Given the description of an element on the screen output the (x, y) to click on. 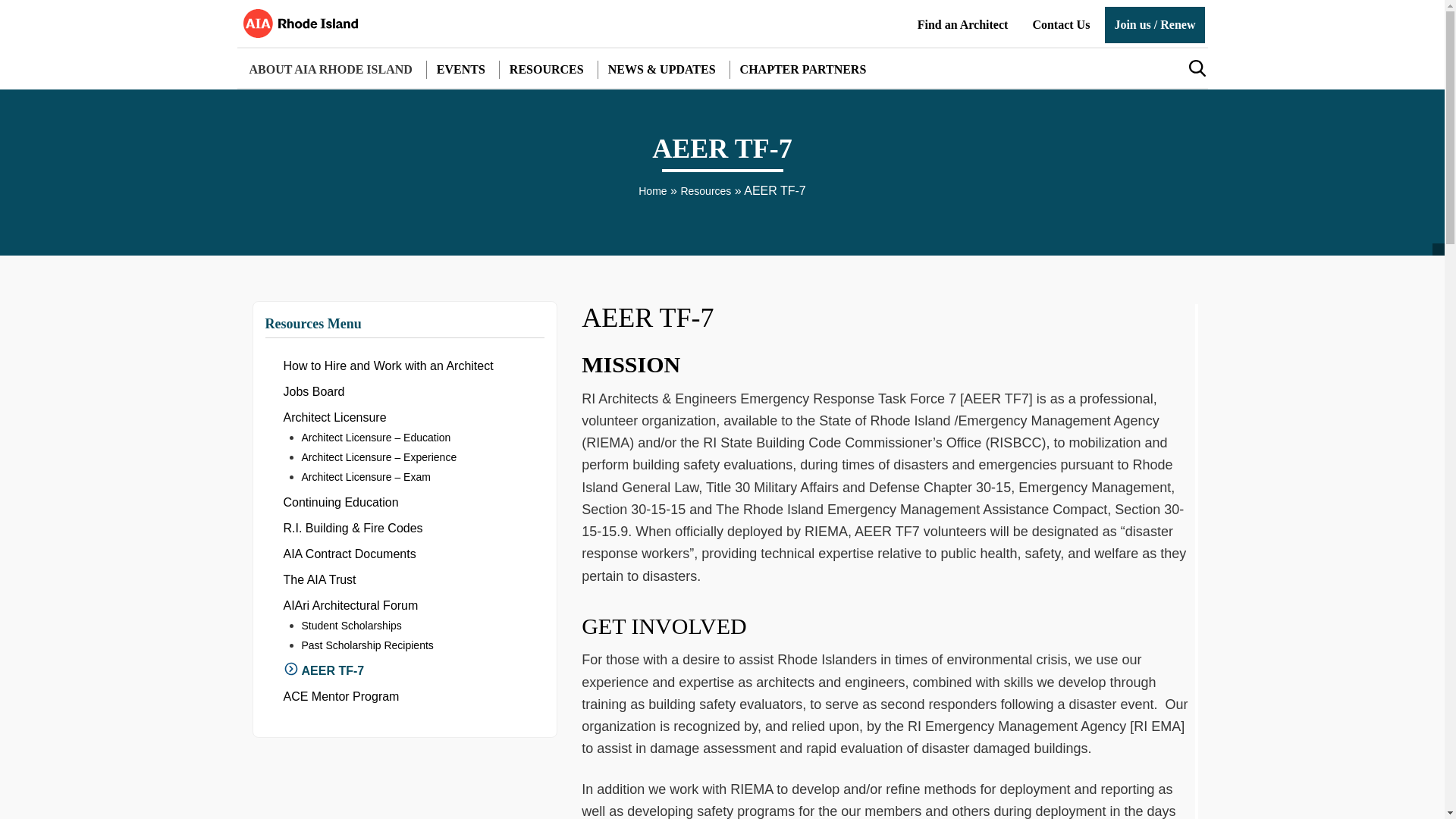
RESOURCES (546, 69)
Resources (704, 191)
EVENTS (461, 69)
Contact Us (1061, 24)
Home (652, 191)
ABOUT AIA RHODE ISLAND (330, 69)
Find an Architect (962, 24)
CHAPTER PARTNERS (803, 69)
